Given the description of an element on the screen output the (x, y) to click on. 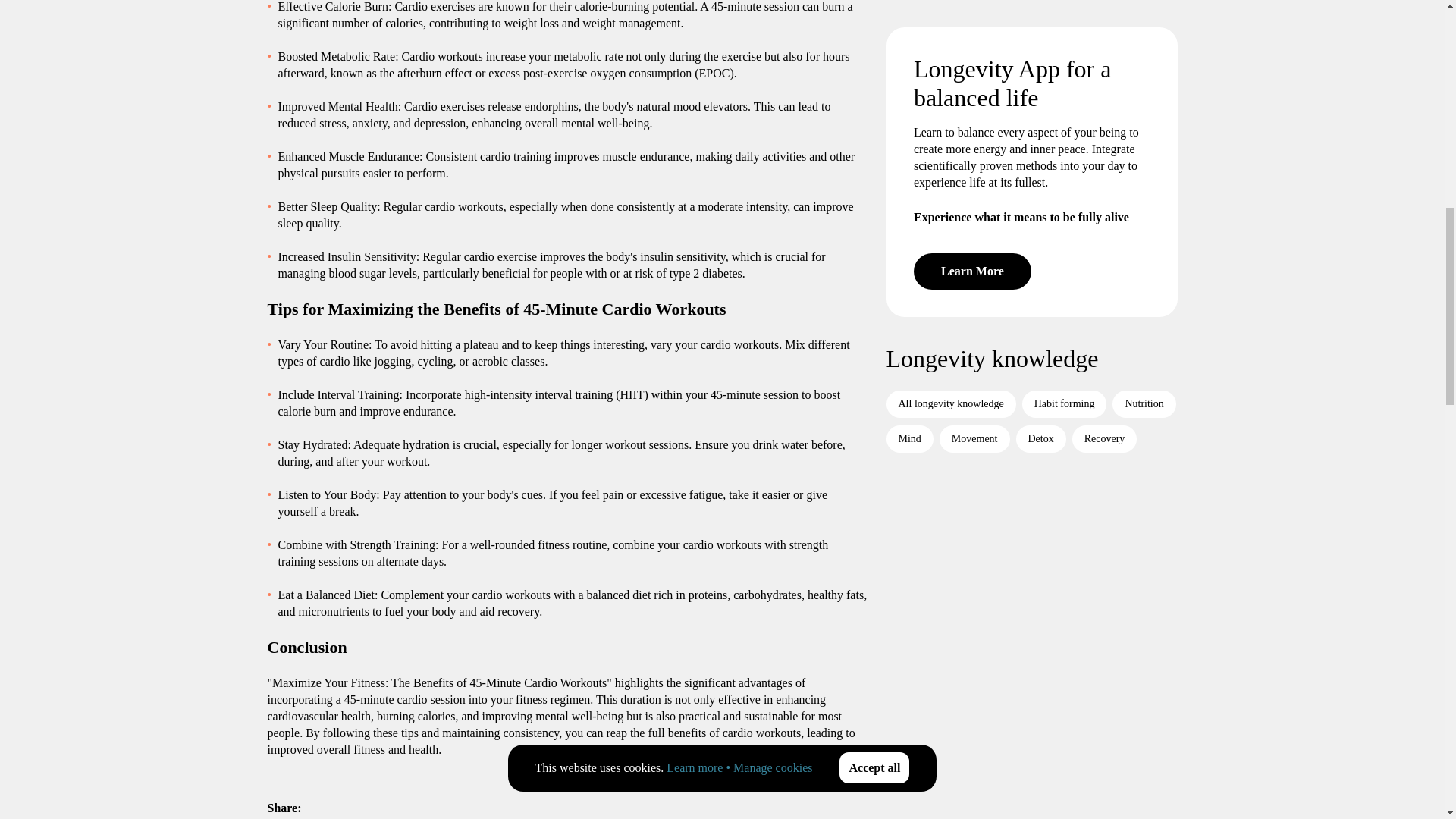
Learn More (971, 66)
Nutrition (1143, 198)
Habit forming (1064, 198)
Mind (909, 234)
Detox (1040, 234)
Movement (974, 234)
All longevity knowledge (949, 198)
Recovery (1104, 234)
